Given the description of an element on the screen output the (x, y) to click on. 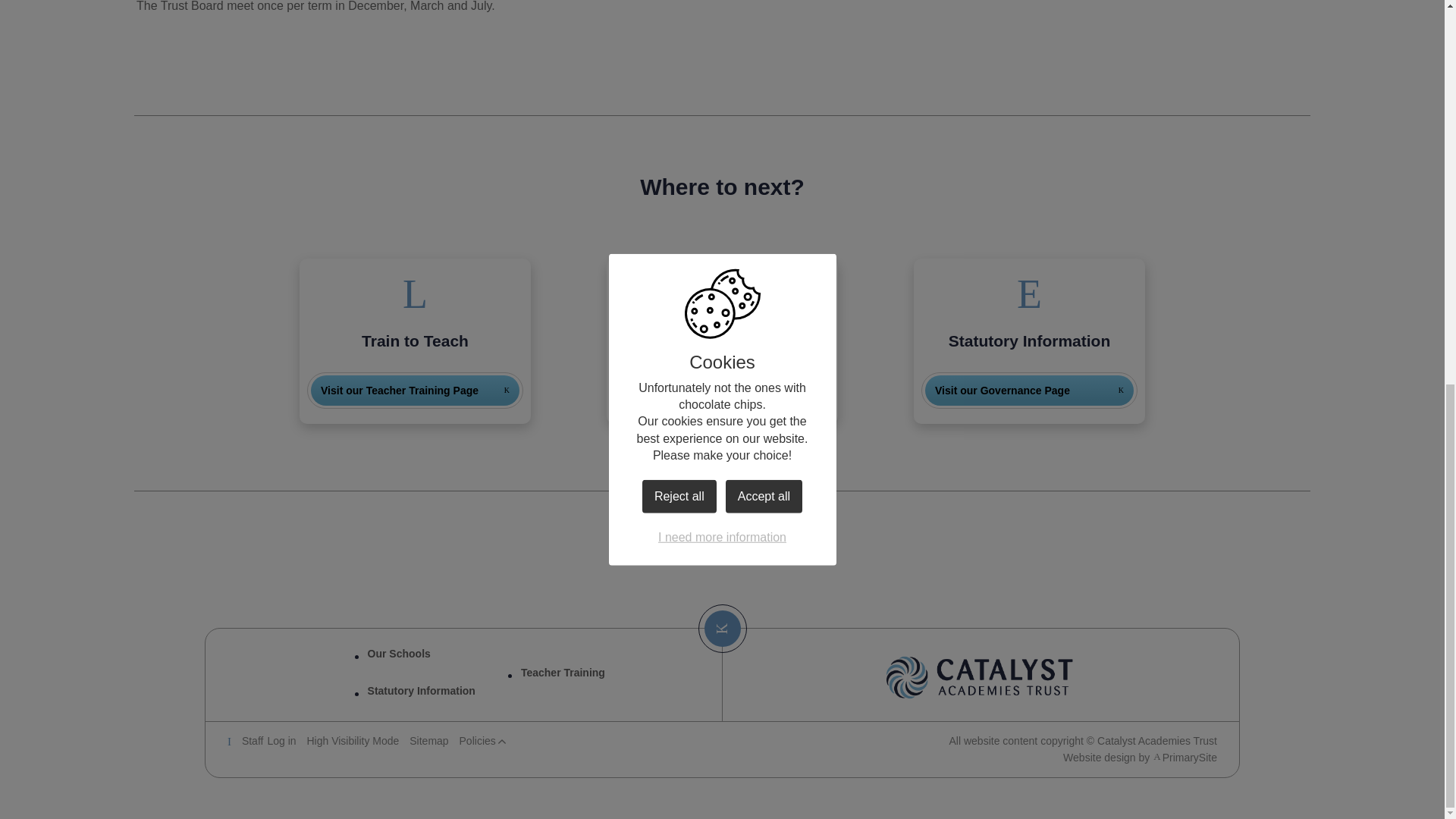
Our Schools (1029, 390)
